Given the description of an element on the screen output the (x, y) to click on. 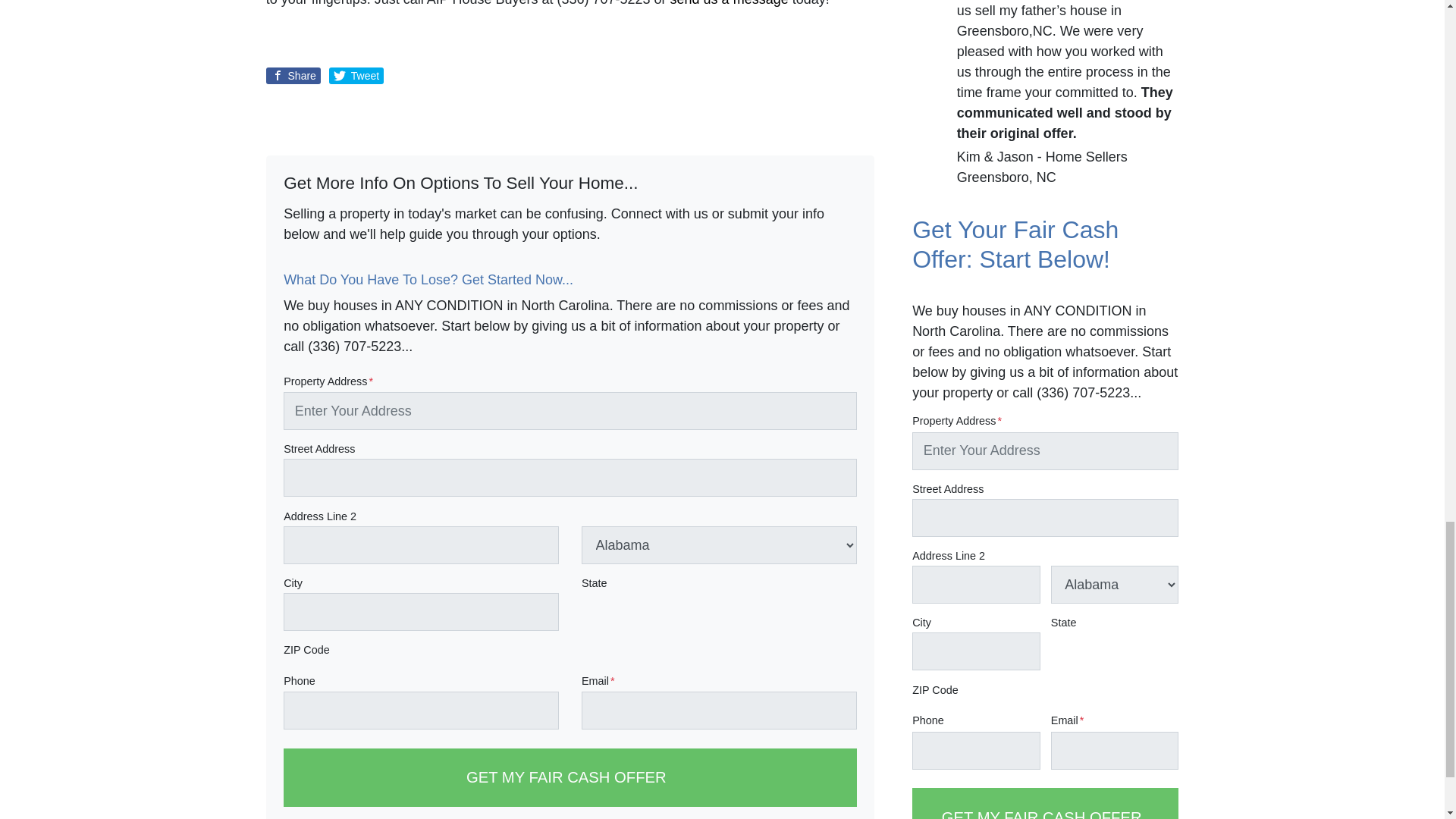
Share on Twitter (356, 75)
Share (293, 75)
GET MY FAIR CASH OFFER (570, 777)
Share on Facebook (293, 75)
send us a message (729, 3)
Tweet (356, 75)
GET MY FAIR CASH OFFER (1044, 803)
